Given the description of an element on the screen output the (x, y) to click on. 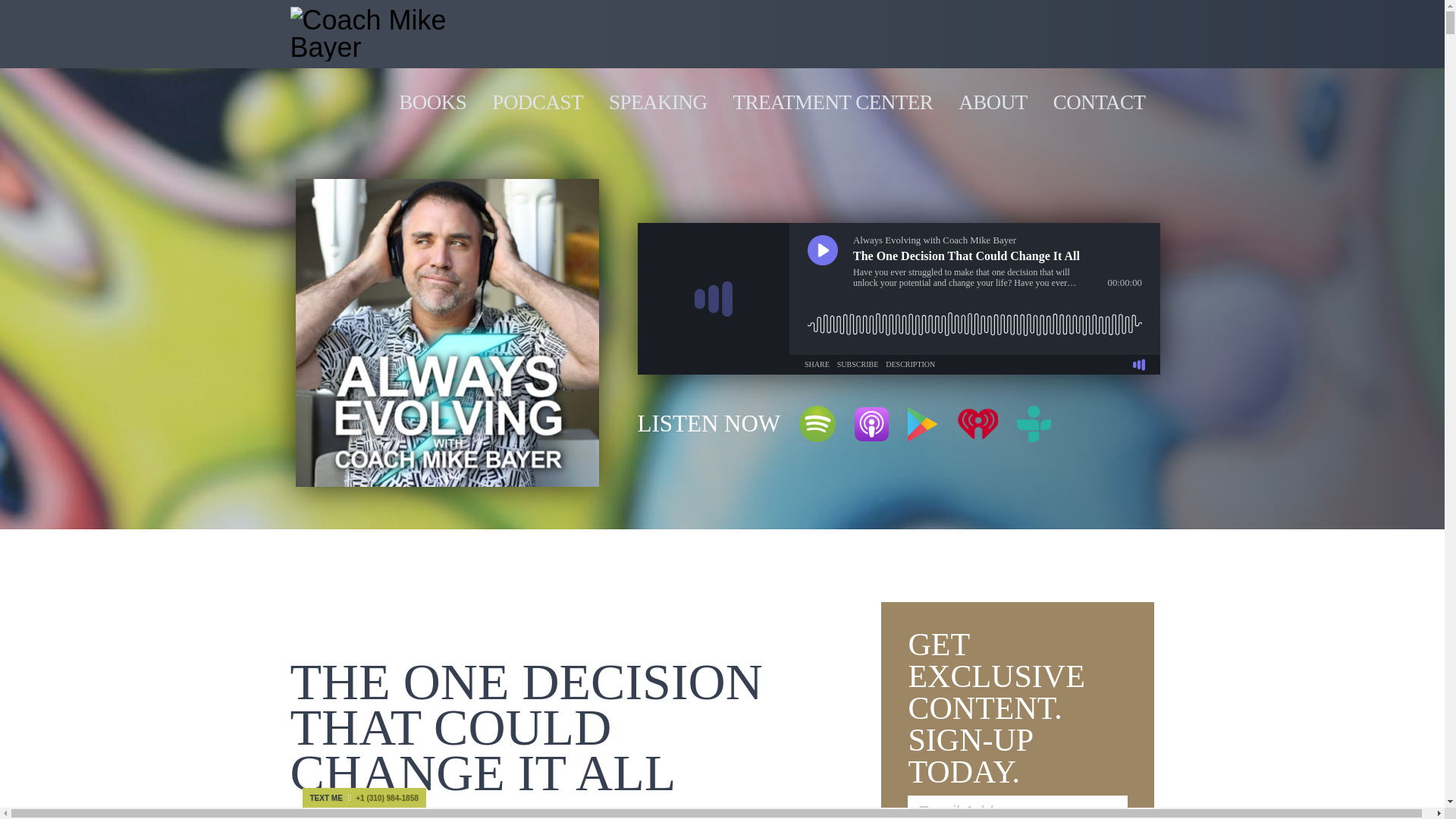
ABOUT (992, 101)
SPEAKING (657, 101)
CONTACT (1098, 101)
PODCAST (537, 101)
BOOKS (433, 101)
TREATMENT CENTER (832, 101)
